Given the description of an element on the screen output the (x, y) to click on. 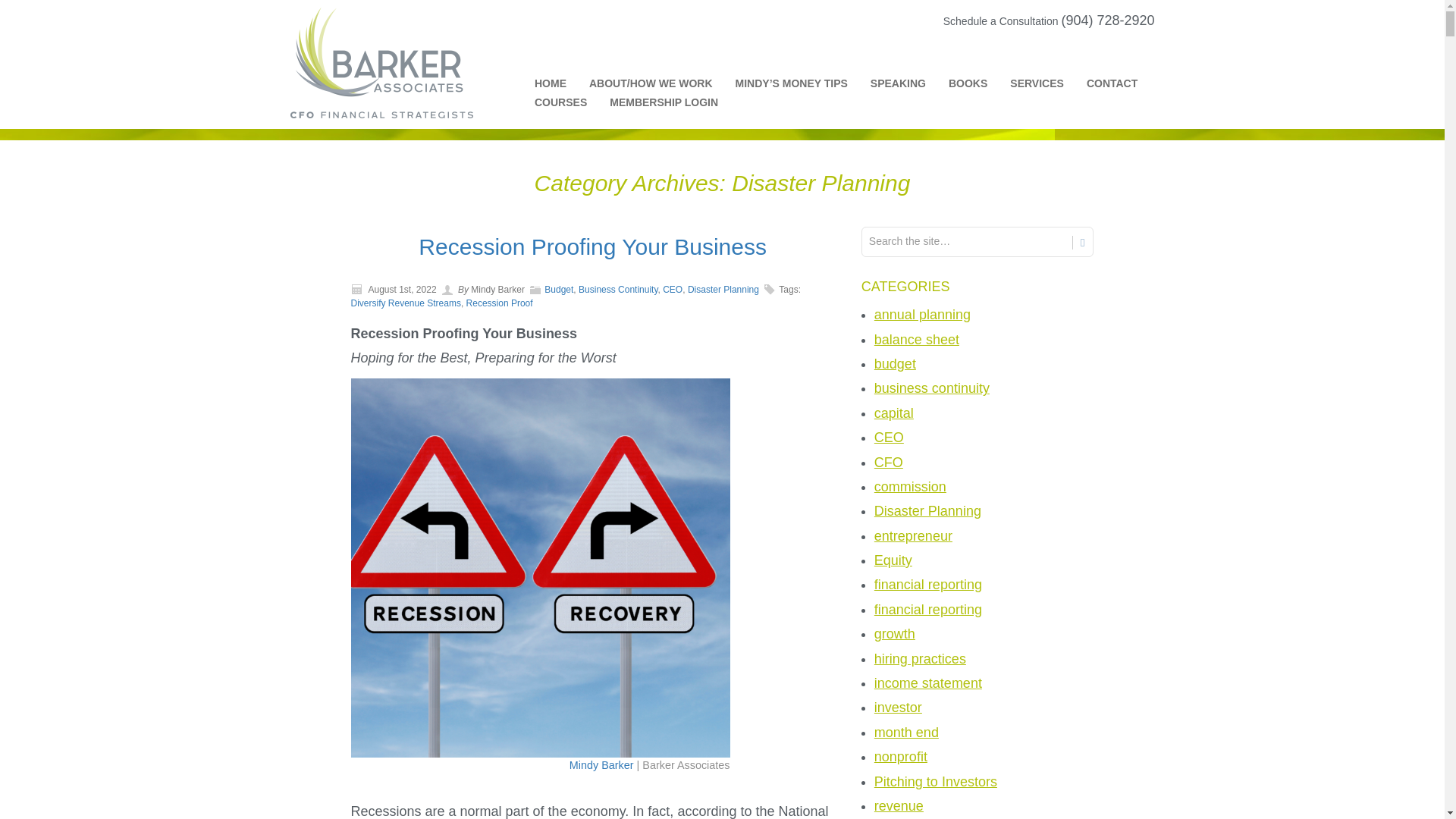
CONTACT (1100, 85)
Read more (593, 246)
BOOKS (956, 85)
MEMBERSHIP LOGIN (651, 104)
Budget (558, 289)
SPEAKING (886, 85)
CEO (672, 289)
Disaster Planning (722, 289)
Recession Proof (498, 303)
Mindy Barker (601, 765)
SERVICES (1025, 85)
Business Continuity (618, 289)
Recession Proofing Your Business (593, 246)
Diversify Revenue Streams (405, 303)
COURSES (549, 104)
